Given the description of an element on the screen output the (x, y) to click on. 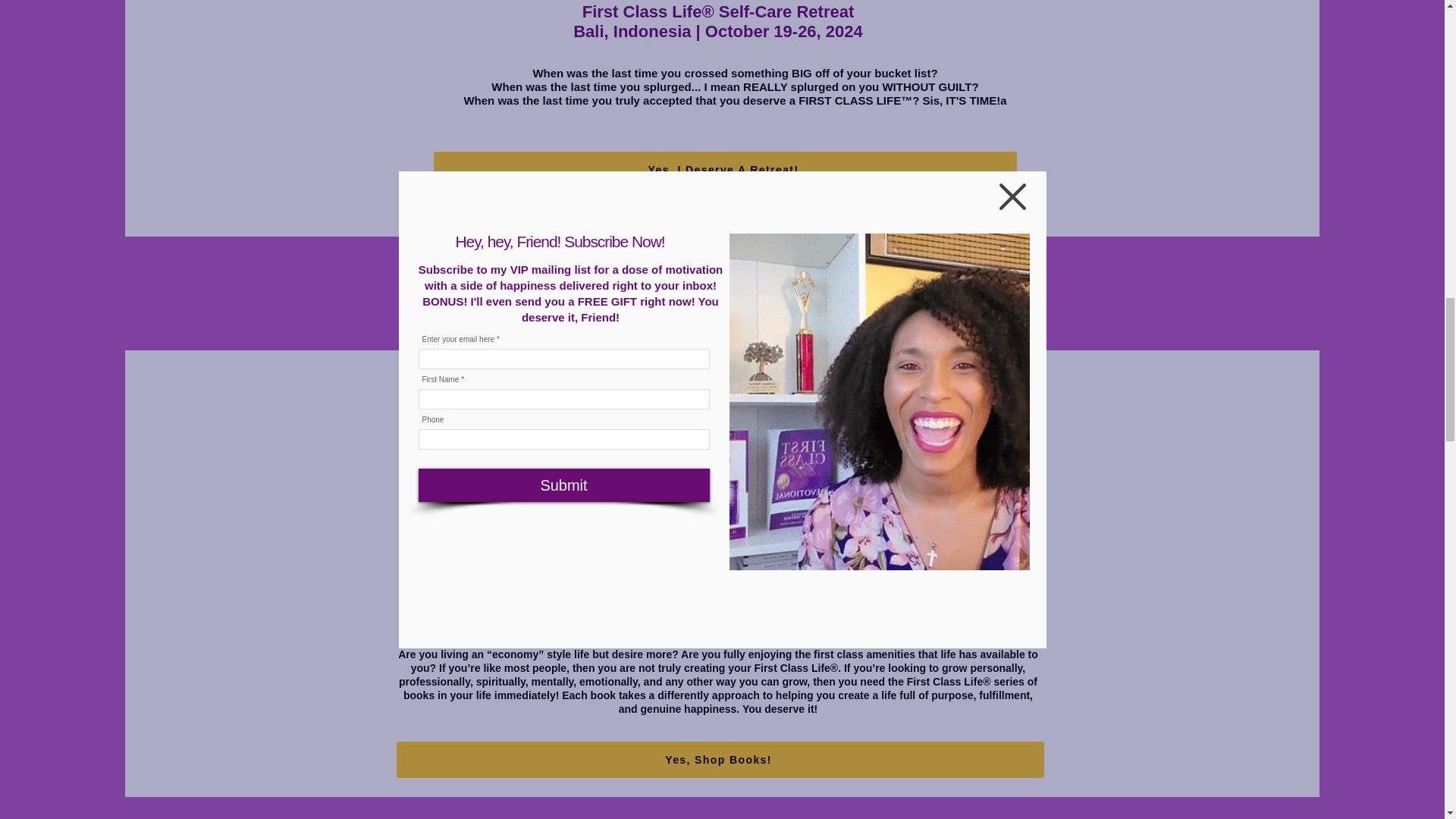
Yes, I Deserve A Retreat! (724, 169)
Yes, Shop Books! (719, 760)
